Given the description of an element on the screen output the (x, y) to click on. 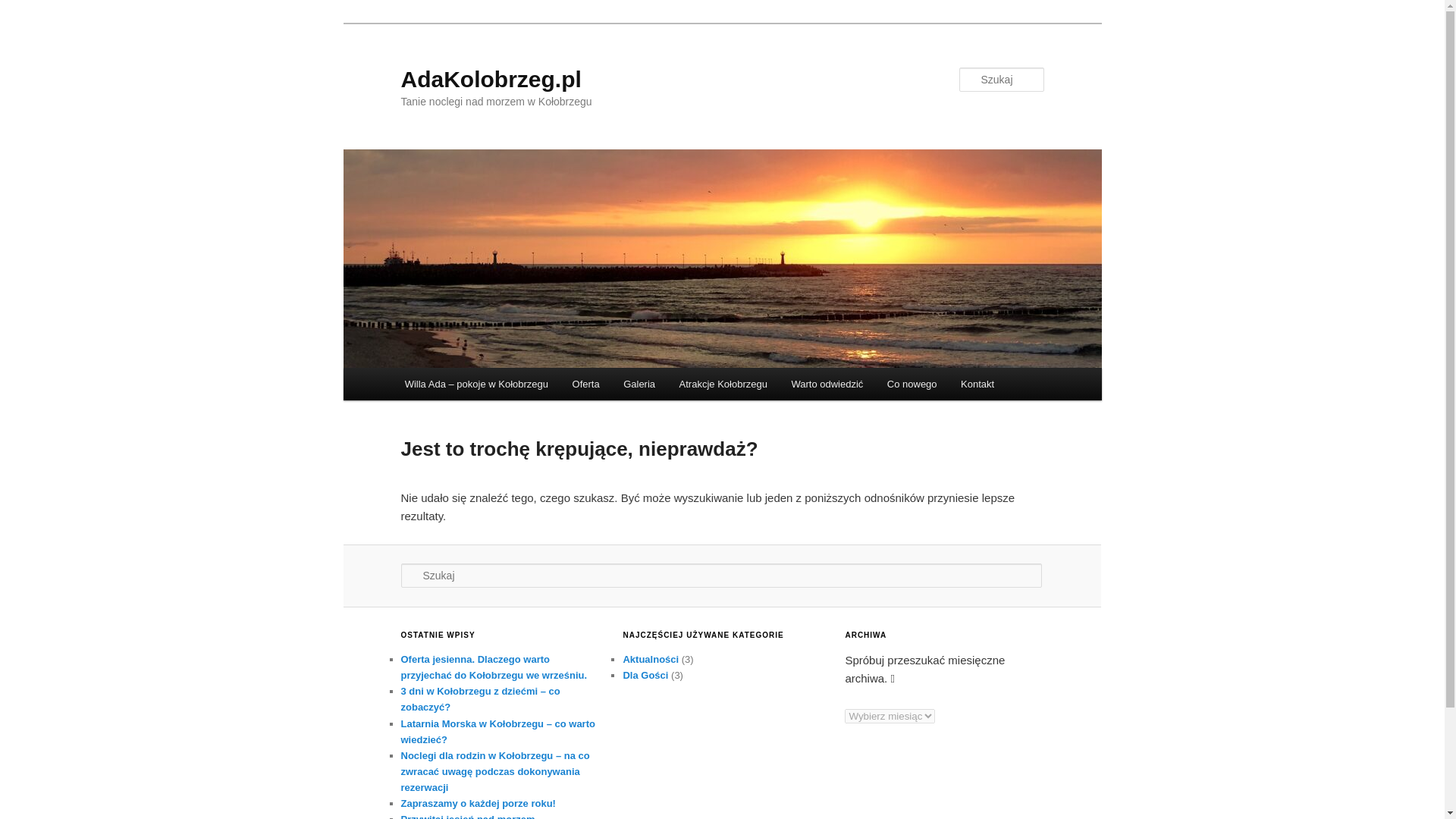
Galeria (638, 383)
Co nowego (912, 383)
AdaKolobrzeg.pl (490, 78)
Oferta (585, 383)
Szukaj (23, 8)
Kontakt (977, 383)
